Given the description of an element on the screen output the (x, y) to click on. 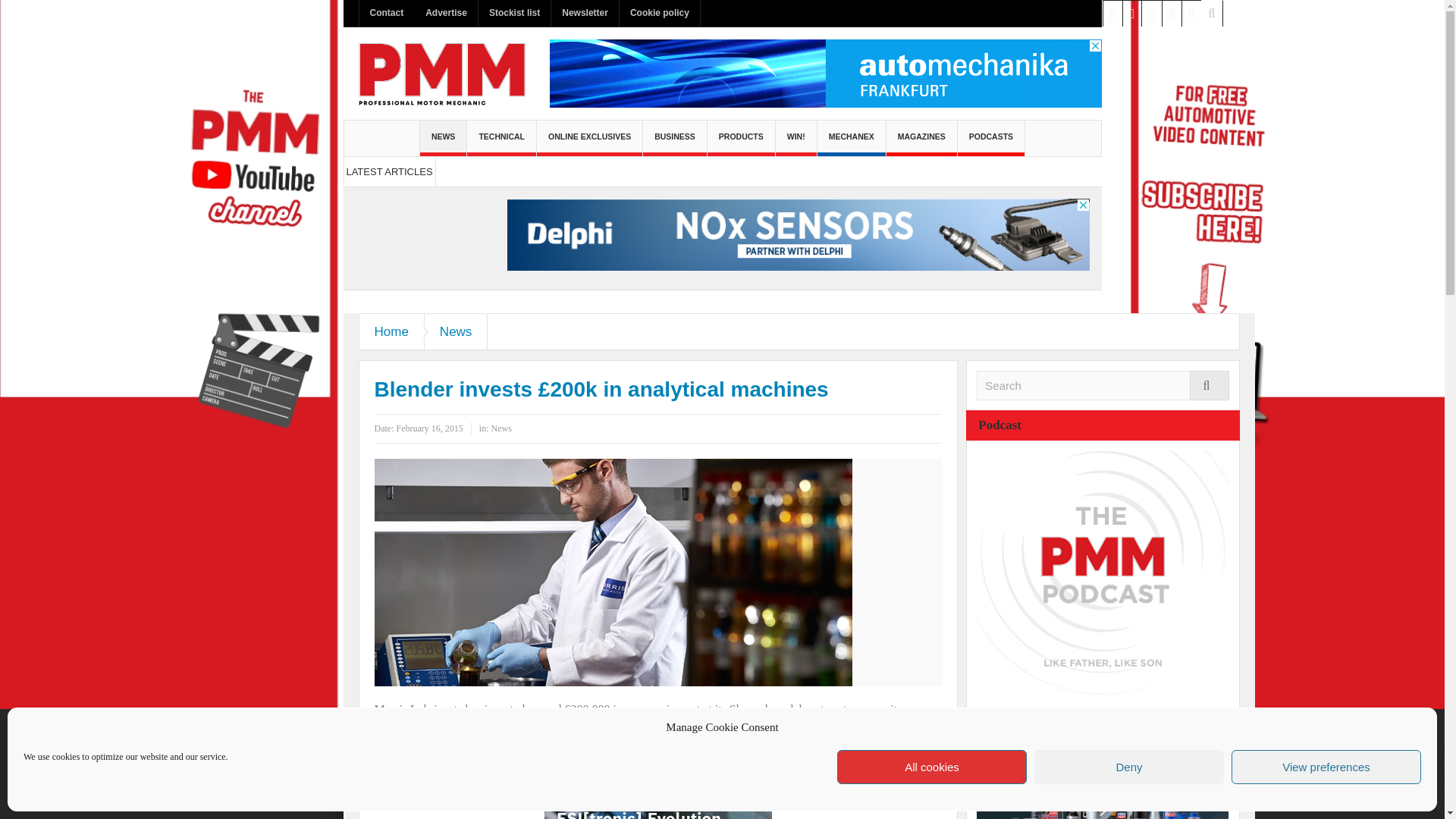
MAGAZINES (921, 138)
Cookie policy (660, 13)
Stockist list (514, 13)
Newsletter (584, 13)
3rd party ad content (1102, 770)
3rd party ad content (657, 809)
Advertise (445, 13)
News (456, 331)
Deny (1128, 766)
NEWS (443, 138)
WIN! (796, 138)
3rd party ad content (797, 236)
ONLINE EXCLUSIVES (589, 138)
PODCASTS (991, 138)
Search (1102, 385)
